Given the description of an element on the screen output the (x, y) to click on. 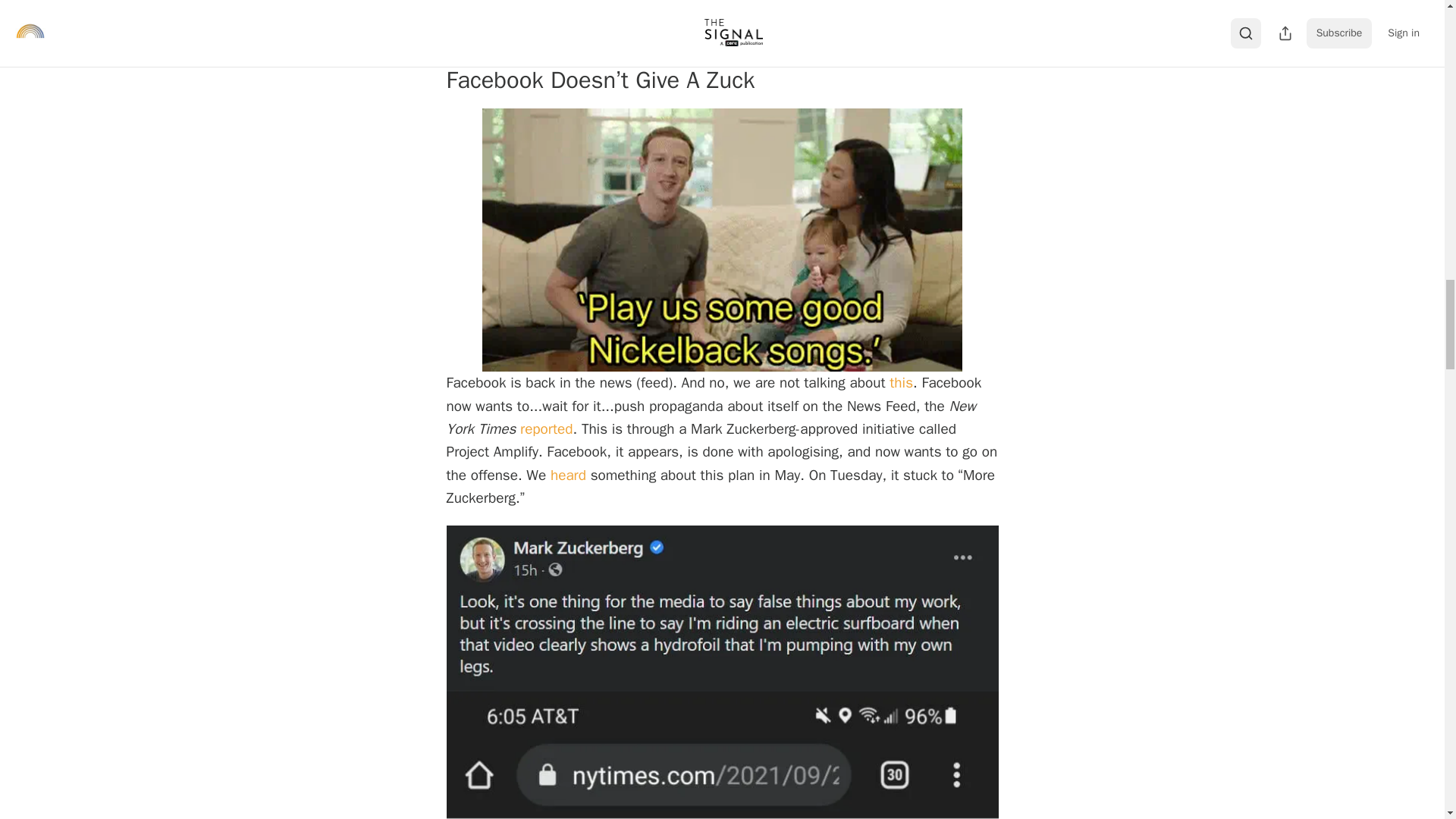
Mark Zuckerberg GIF by Mashable (721, 239)
